Given the description of an element on the screen output the (x, y) to click on. 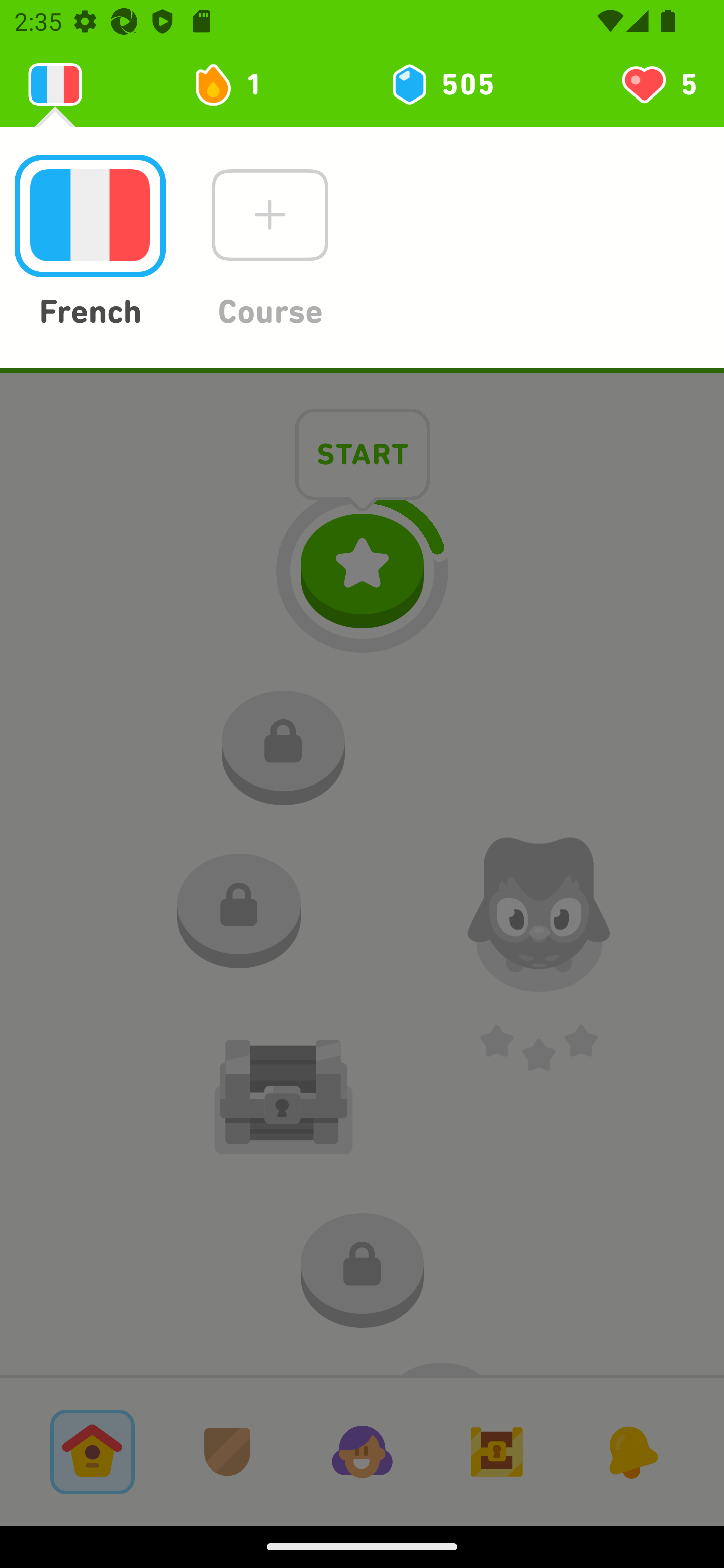
Learning 2131888976 (55, 84)
1 day streak 1 (236, 84)
505 (441, 84)
You have 5 hearts left 5 (657, 84)
French (89, 242)
Course (270, 242)
START (362, 457)
Learn Tab (91, 1451)
Leagues Tab (227, 1451)
Profile Tab (361, 1451)
Goals Tab (496, 1451)
News Tab (631, 1451)
